Given the description of an element on the screen output the (x, y) to click on. 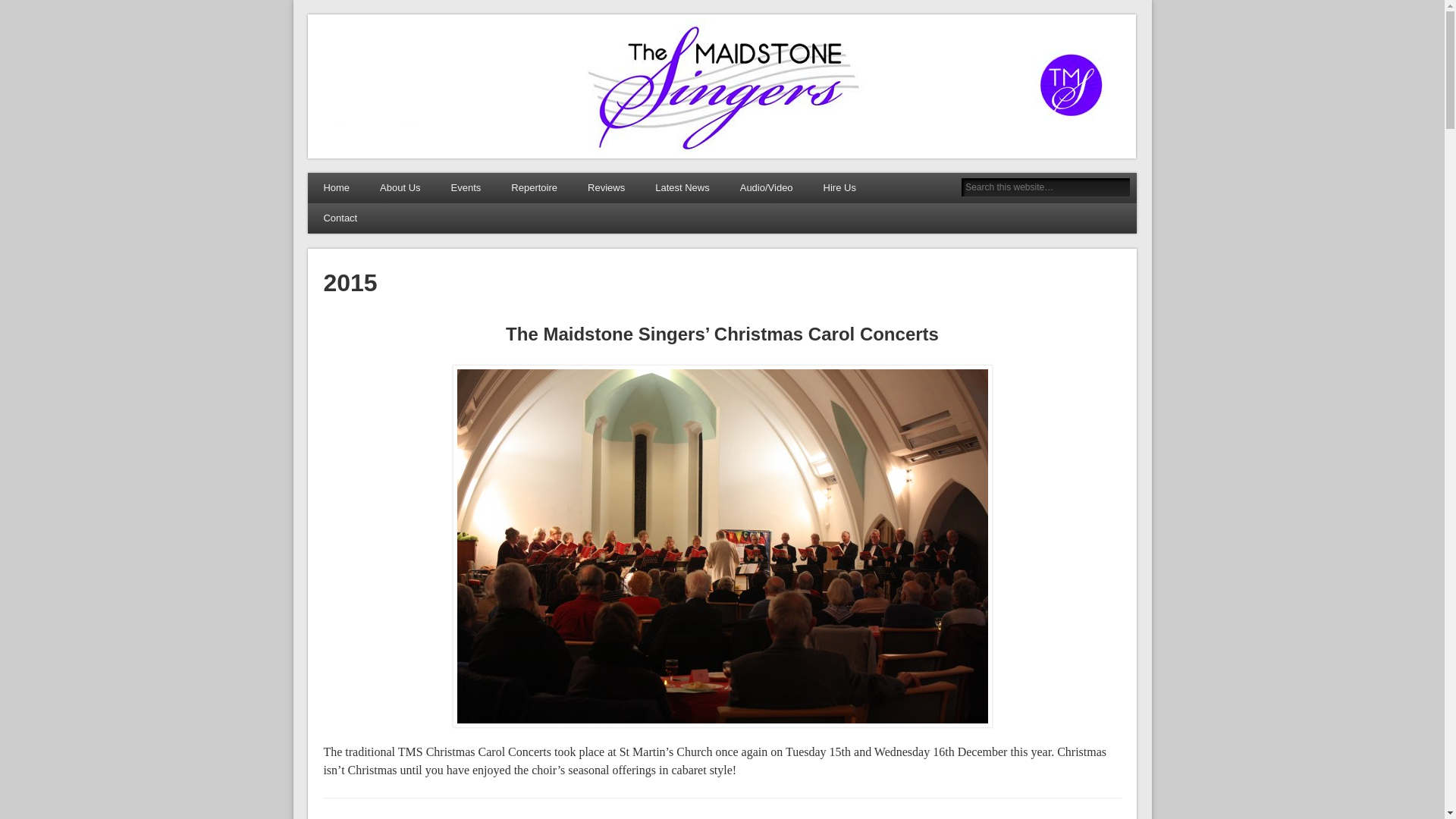
Latest News (682, 187)
The Maidstone Singers (423, 37)
Home (336, 187)
Reviews (606, 187)
Contact (339, 218)
Search (11, 7)
Events (465, 187)
Repertoire (534, 187)
Hire Us (839, 187)
About Us (400, 187)
